Given the description of an element on the screen output the (x, y) to click on. 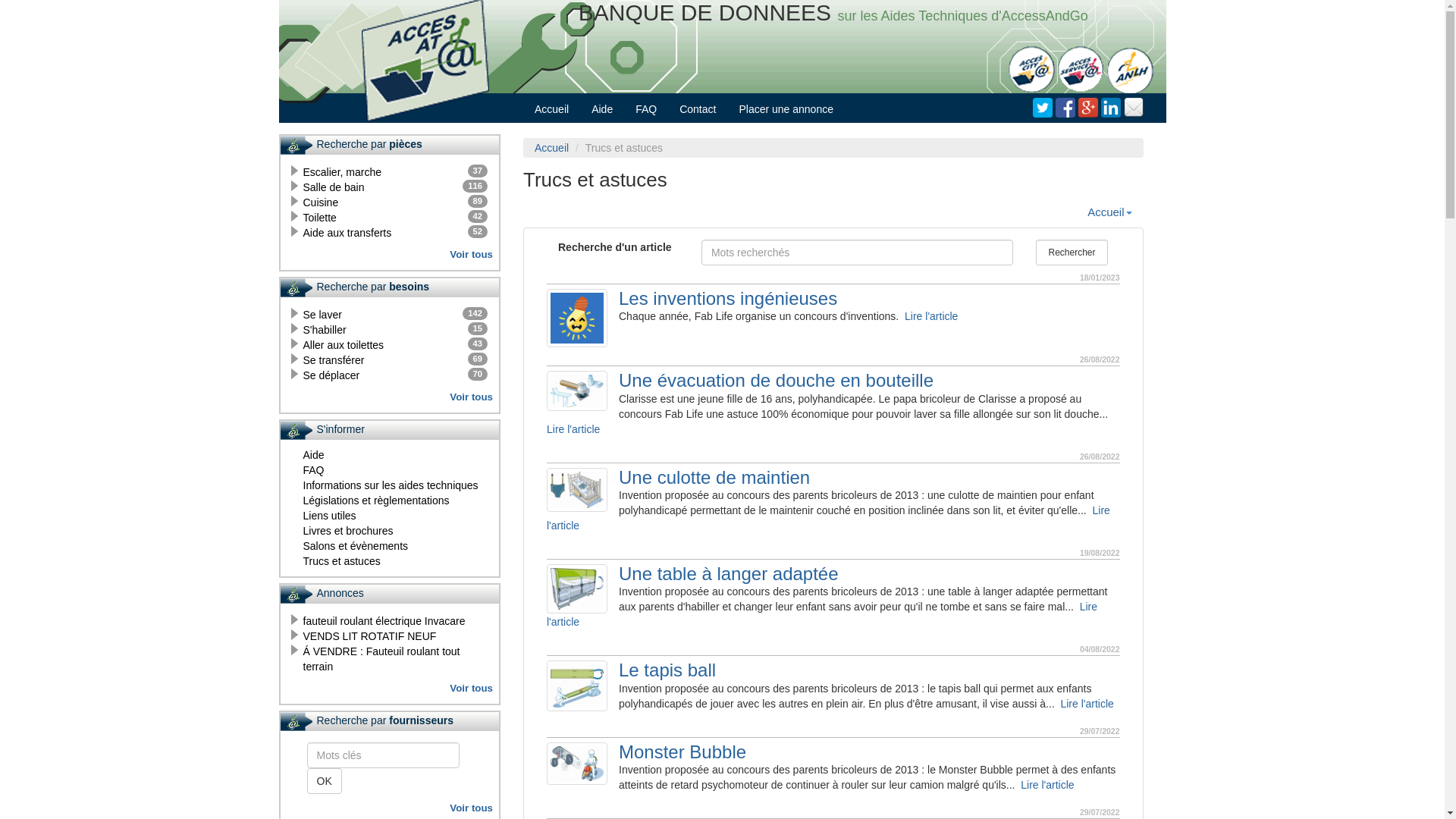
Le tapis ball Element type: text (833, 670)
Voir tous Element type: text (470, 687)
15
S'habiller Element type: text (324, 329)
FAQ Element type: text (646, 109)
Lire l'article Element type: text (572, 429)
Aide Element type: text (602, 109)
Monster Bubble Element type: text (833, 752)
Lire l'article Element type: text (828, 517)
142
Se laver Element type: text (322, 314)
FAQ Element type: text (313, 470)
Annonces Element type: text (389, 593)
Voir tous Element type: text (470, 396)
Informations sur les aides techniques Element type: text (390, 485)
Livres et brochures Element type: text (348, 530)
Une culotte de maintien Element type: text (833, 477)
52
Aide aux transferts Element type: text (347, 232)
Voir tous Element type: text (470, 807)
Trucs et astuces Element type: text (341, 561)
S'informer Element type: text (389, 429)
Accueil Element type: text (1109, 212)
VENDS LIT ROTATIF NEUF Element type: text (369, 636)
Placer une annonce Element type: text (785, 109)
Voir tous Element type: text (470, 254)
43
Aller aux toilettes Element type: text (343, 344)
Recherche par fournisseurs Element type: text (389, 721)
Rechercher Element type: text (1071, 252)
Aide Element type: text (313, 454)
Contact Element type: text (697, 109)
Lire l'article Element type: text (1086, 703)
Accueil Element type: text (551, 147)
Lire l'article Element type: text (930, 316)
Lire l'article Element type: text (1046, 784)
37
Escalier, marche Element type: text (342, 172)
Recherche par besoins Element type: text (389, 287)
116
Salle de bain Element type: text (333, 187)
42
Toilette Element type: text (319, 217)
89
Cuisine Element type: text (320, 202)
Liens utiles Element type: text (329, 515)
Accueil Element type: text (551, 109)
  Element type: text (1133, 107)
OK Element type: text (323, 780)
Lire l'article Element type: text (821, 613)
